Given the description of an element on the screen output the (x, y) to click on. 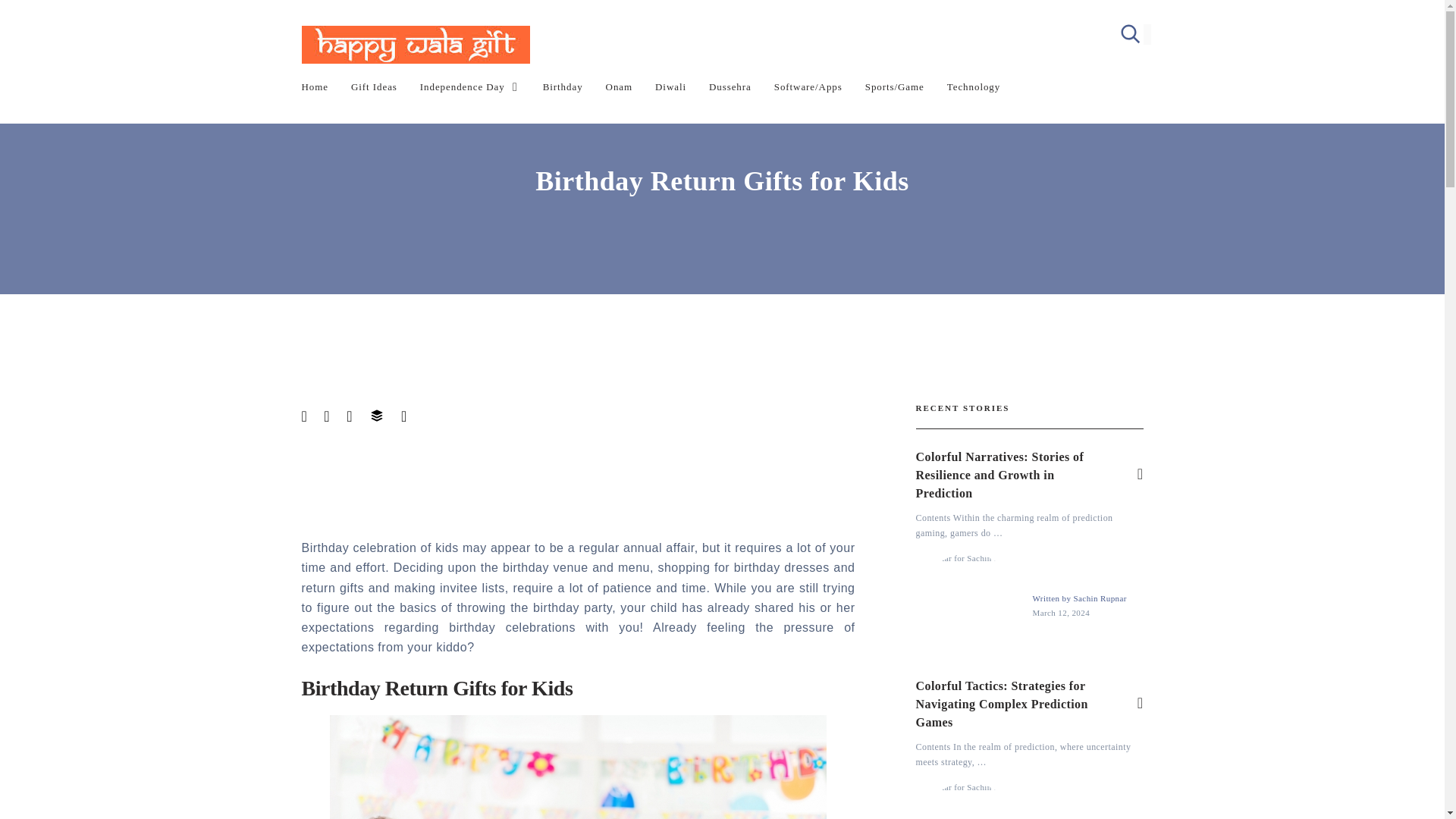
Birthday (563, 86)
Independence Day (469, 86)
Gravatar for Sachin Rupnar (967, 800)
Dussehra (730, 86)
Posts by Sachin Rupnar (1100, 597)
Diwali (670, 86)
Onam (618, 86)
Technology (973, 86)
Gravatar for Sachin Rupnar (967, 605)
Gift Ideas (373, 86)
Like (1139, 703)
Home (315, 86)
Like (1139, 474)
